Given the description of an element on the screen output the (x, y) to click on. 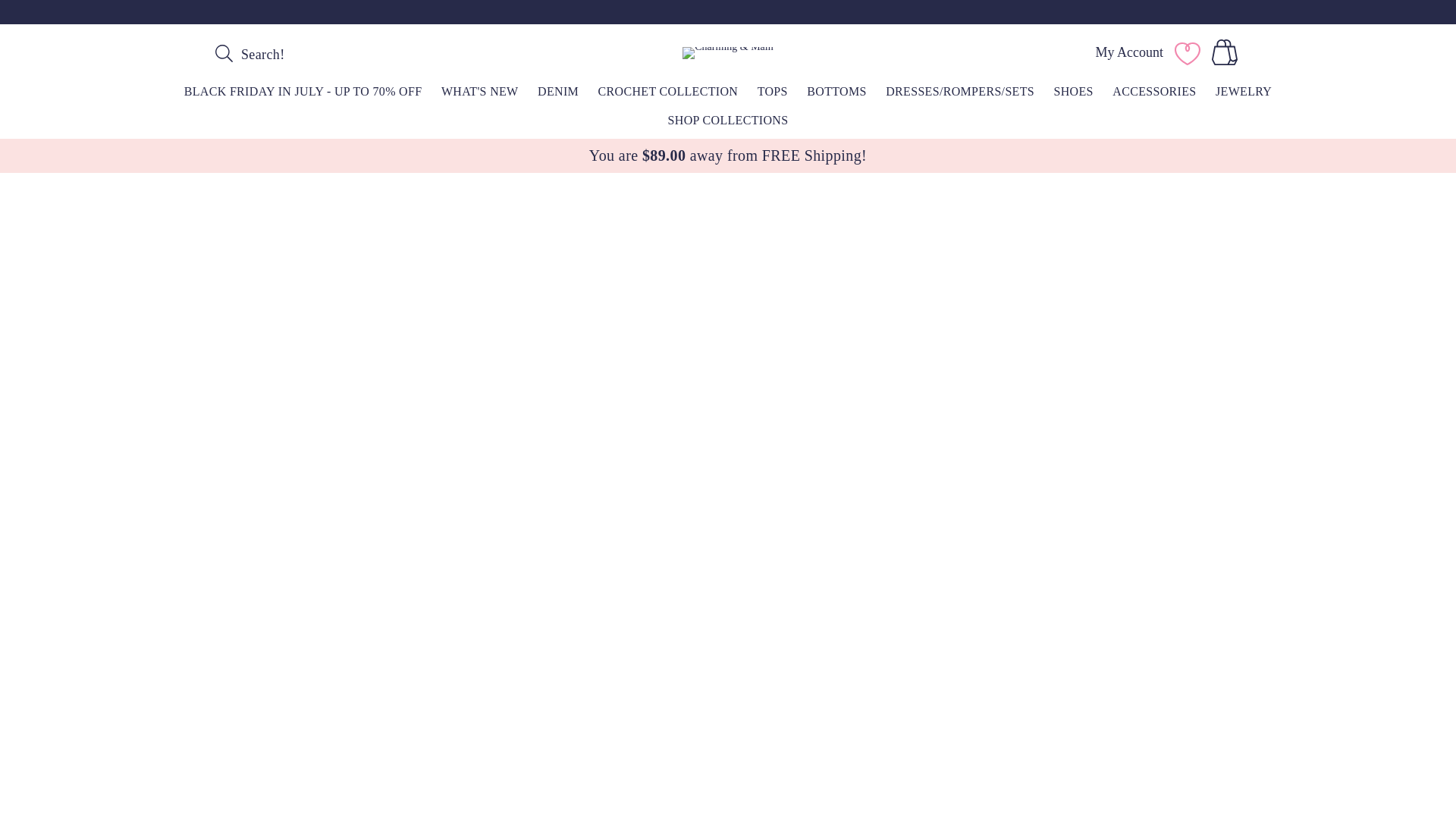
SKIP TO CONTENT (45, 16)
